Given the description of an element on the screen output the (x, y) to click on. 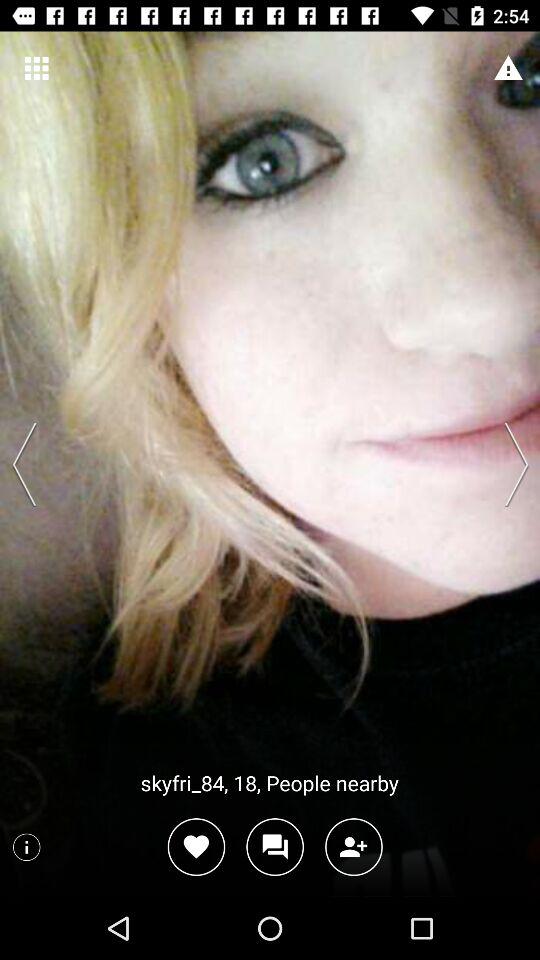
add as your friend (353, 846)
